Given the description of an element on the screen output the (x, y) to click on. 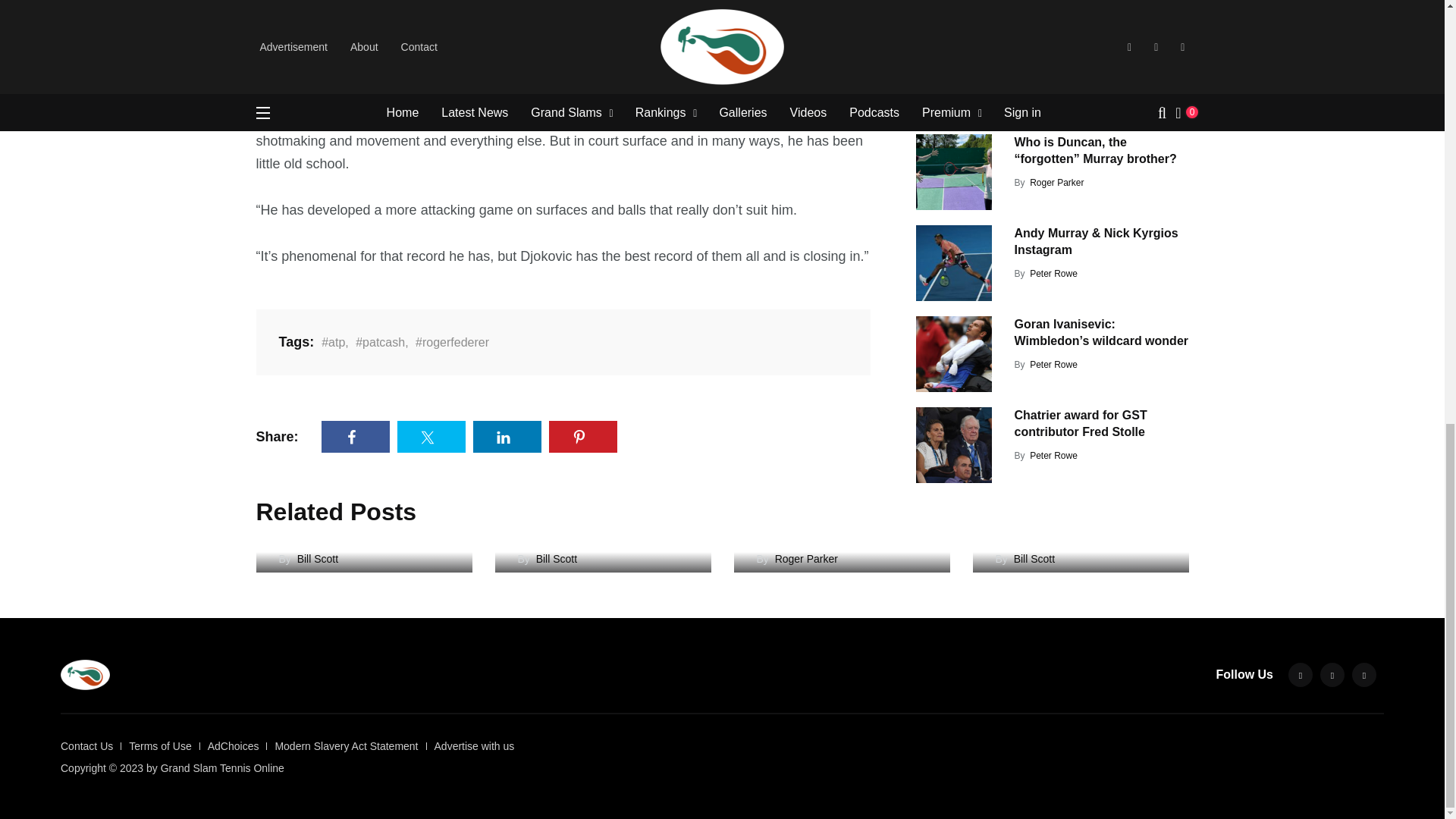
Share on Pinterest (582, 436)
Share on LinkedIn (507, 436)
Share on Facebook (355, 436)
Share on Twitter (431, 436)
Posts by Bill Scott (1047, 36)
